Given the description of an element on the screen output the (x, y) to click on. 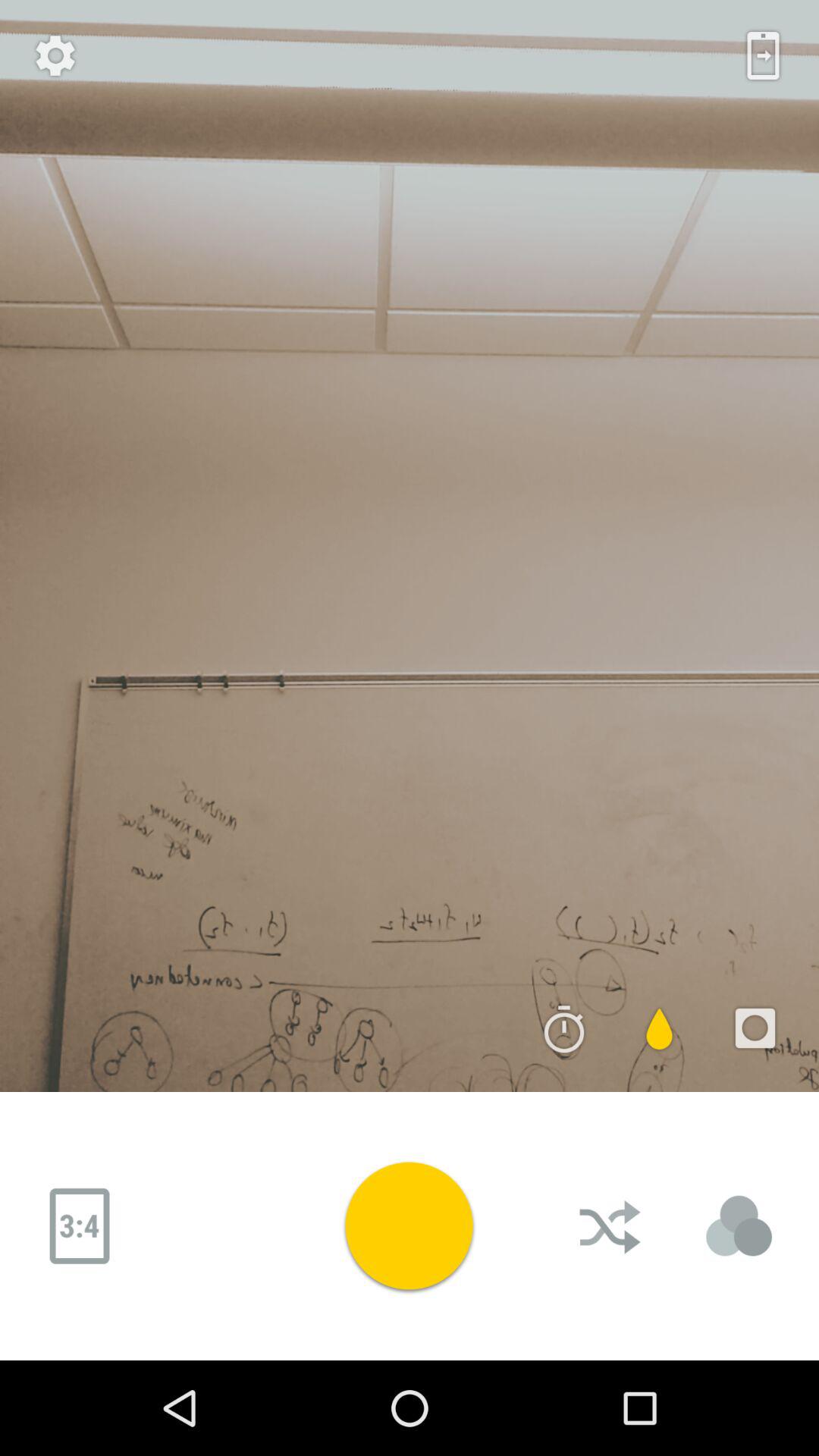
acess phone (763, 55)
